Given the description of an element on the screen output the (x, y) to click on. 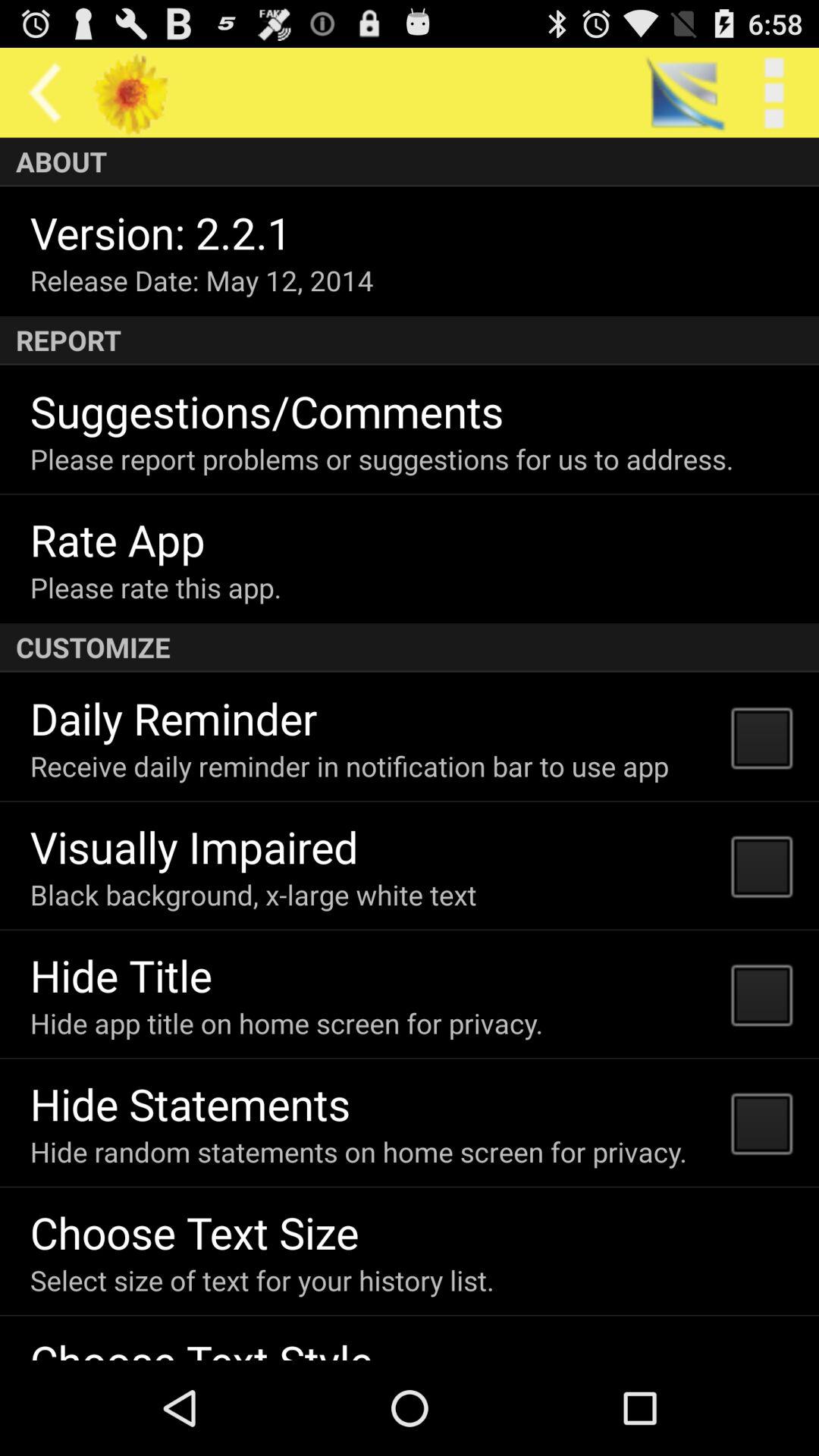
tap the app below rate app app (155, 587)
